Given the description of an element on the screen output the (x, y) to click on. 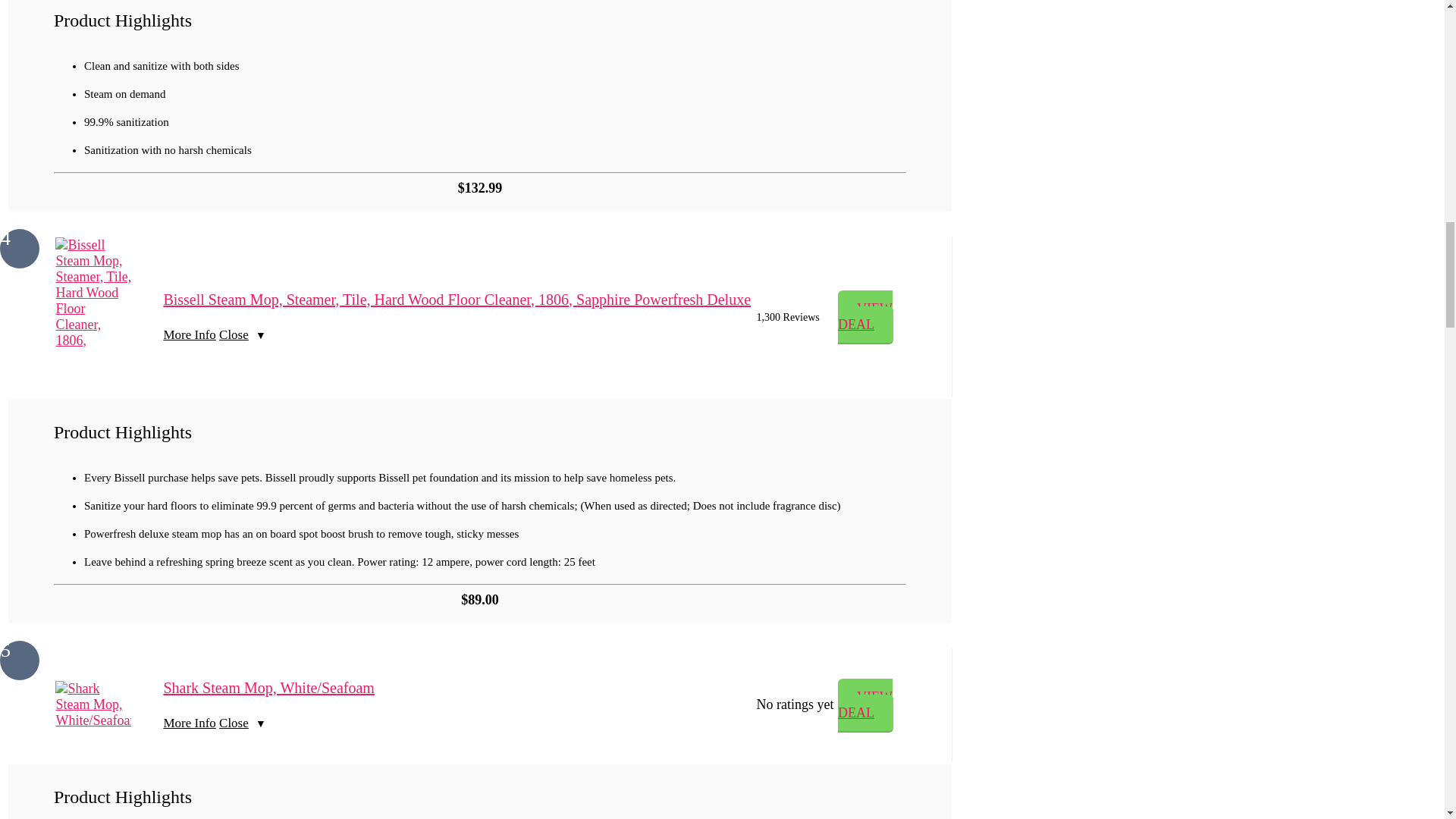
VIEW DEAL (865, 705)
VIEW DEAL (865, 316)
